Given the description of an element on the screen output the (x, y) to click on. 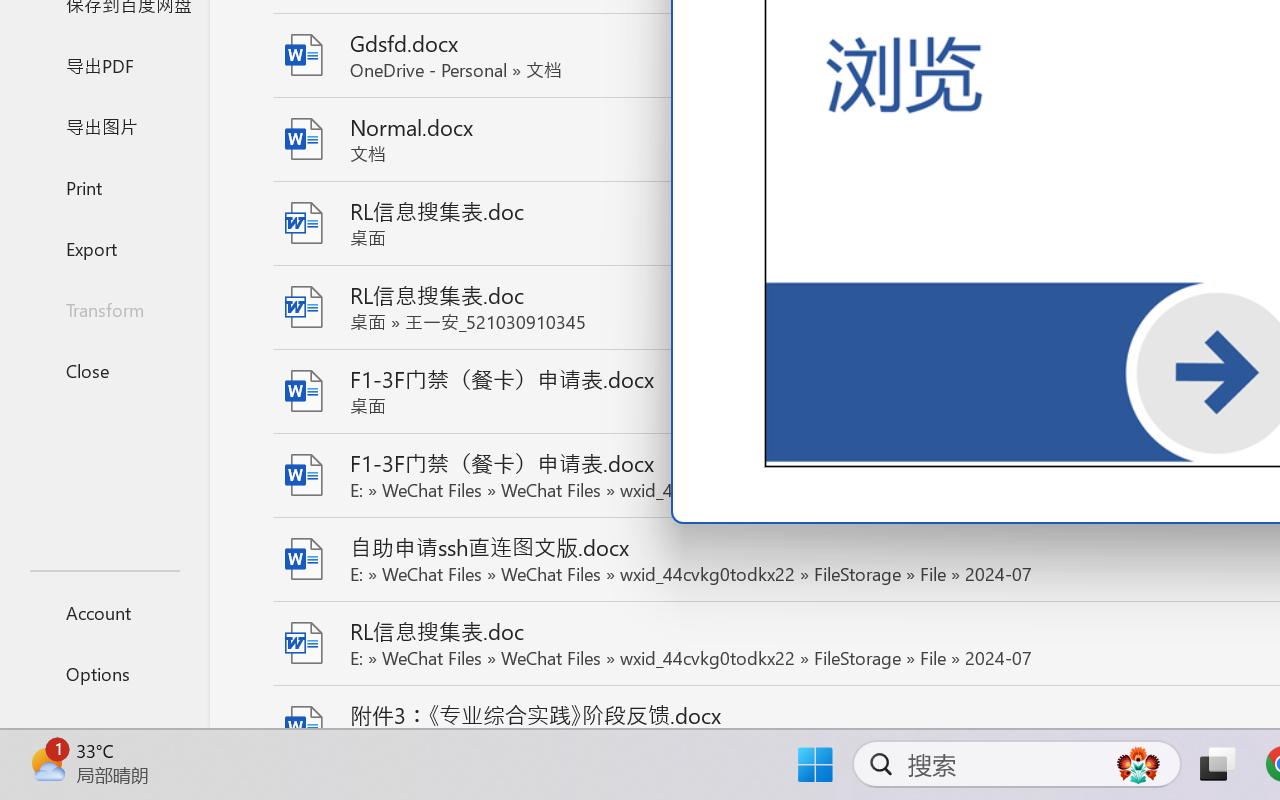
Options (104, 673)
Export (104, 248)
Account (104, 612)
Print (104, 186)
Transform (104, 309)
